Given the description of an element on the screen output the (x, y) to click on. 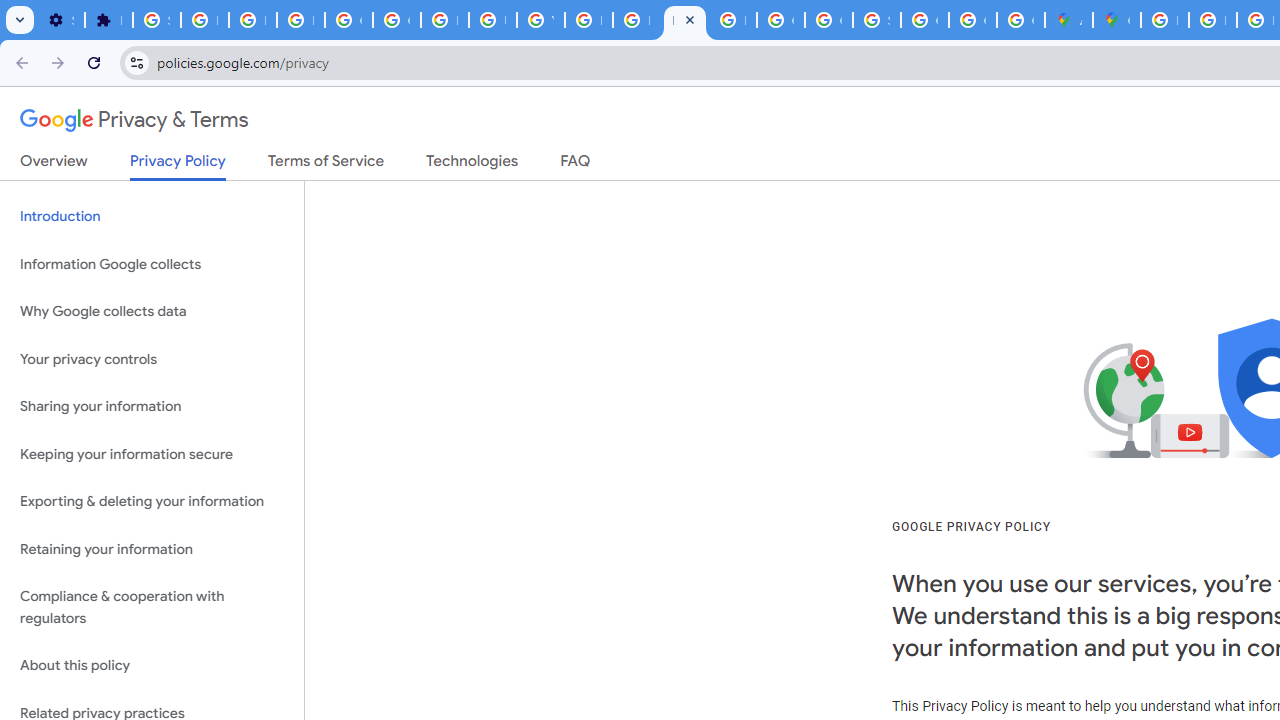
Sharing your information (152, 407)
https://scholar.google.com/ (588, 20)
